Given the description of an element on the screen output the (x, y) to click on. 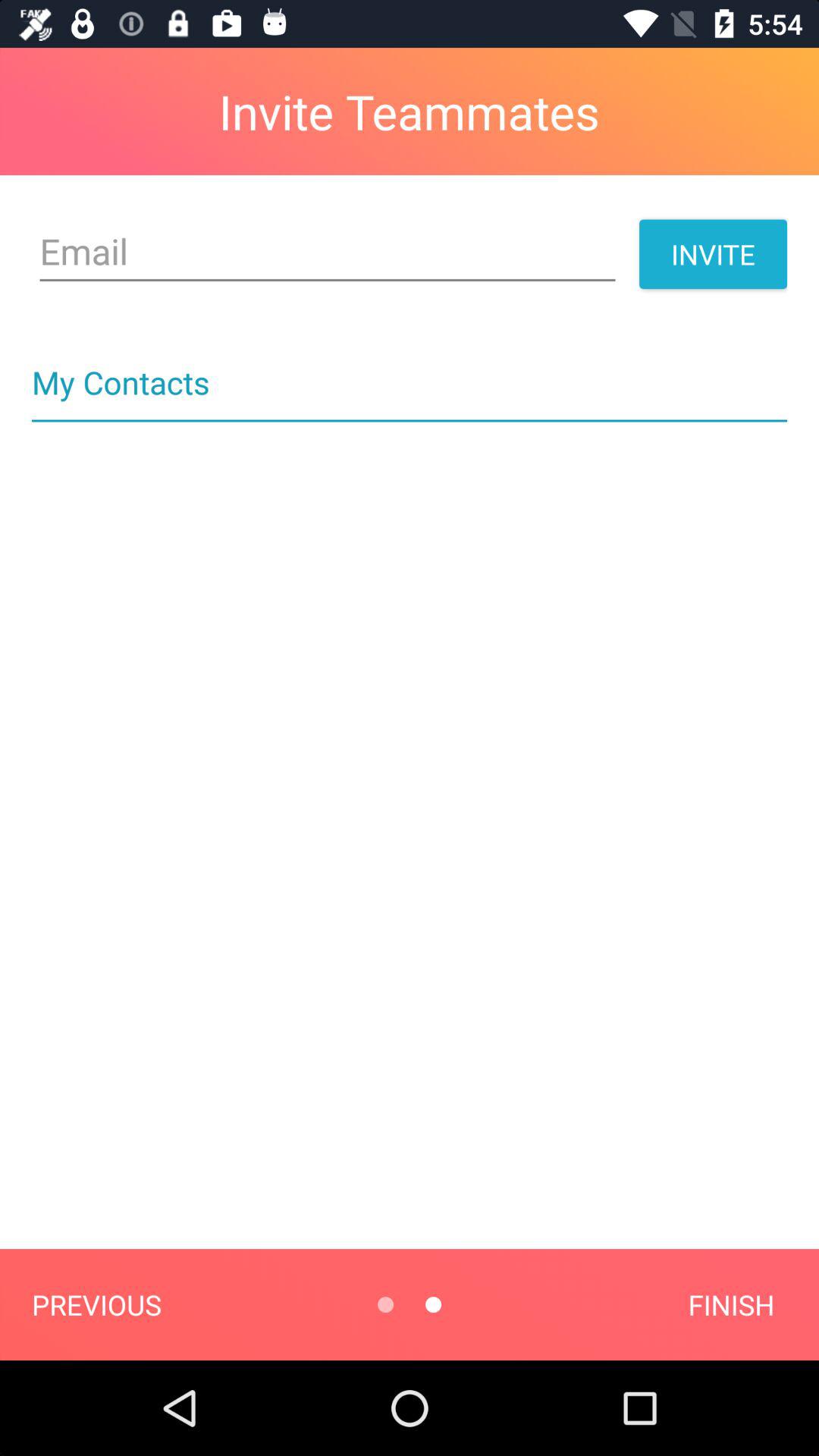
flip until the previous (96, 1304)
